Given the description of an element on the screen output the (x, y) to click on. 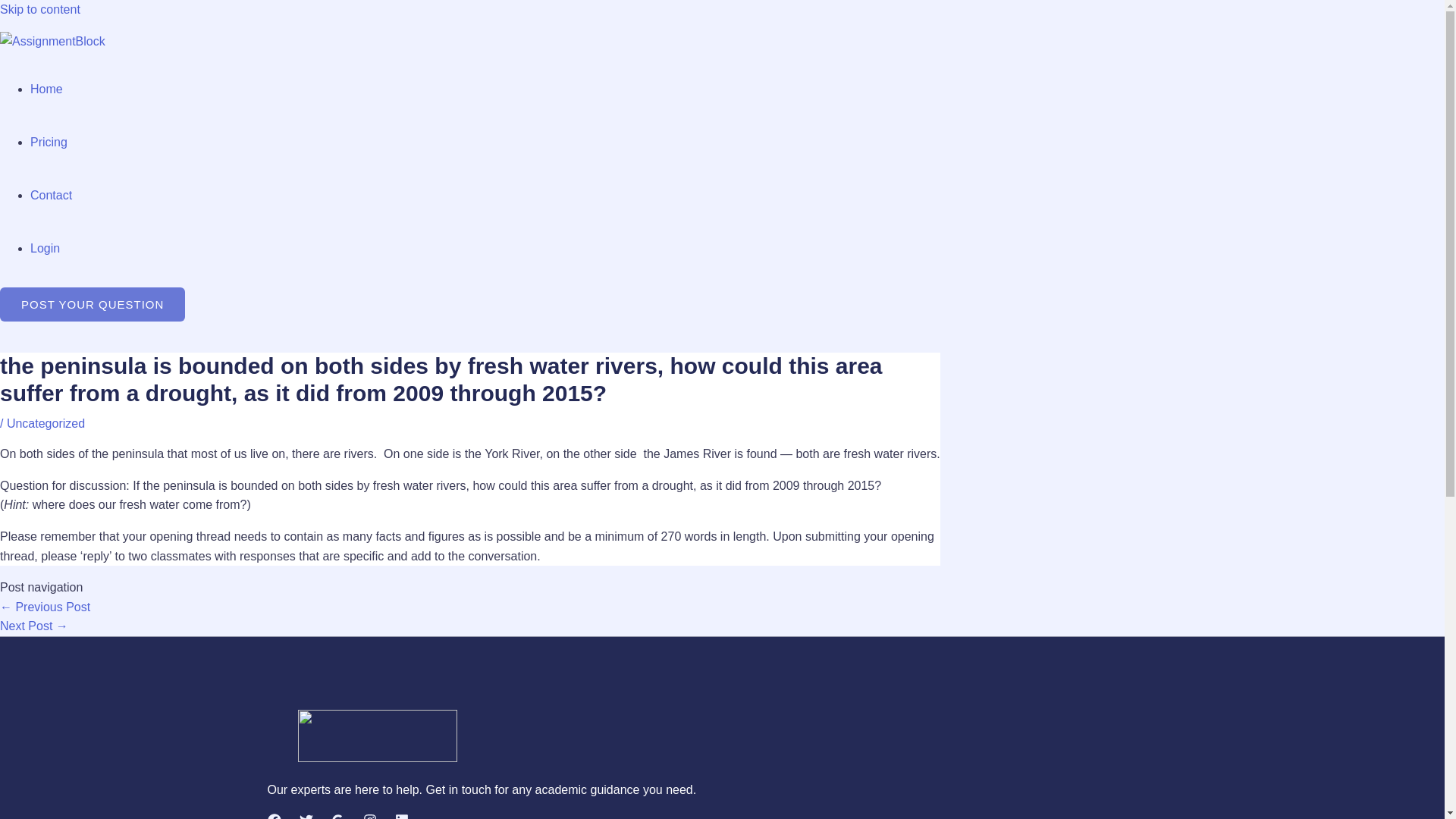
Google Reviews (336, 816)
Contact (50, 195)
Skip to content (40, 9)
Skip to content (40, 9)
Login (44, 247)
Pricing (48, 141)
Home (46, 88)
POST YOUR QUESTION (92, 304)
Uncategorized (45, 422)
